Given the description of an element on the screen output the (x, y) to click on. 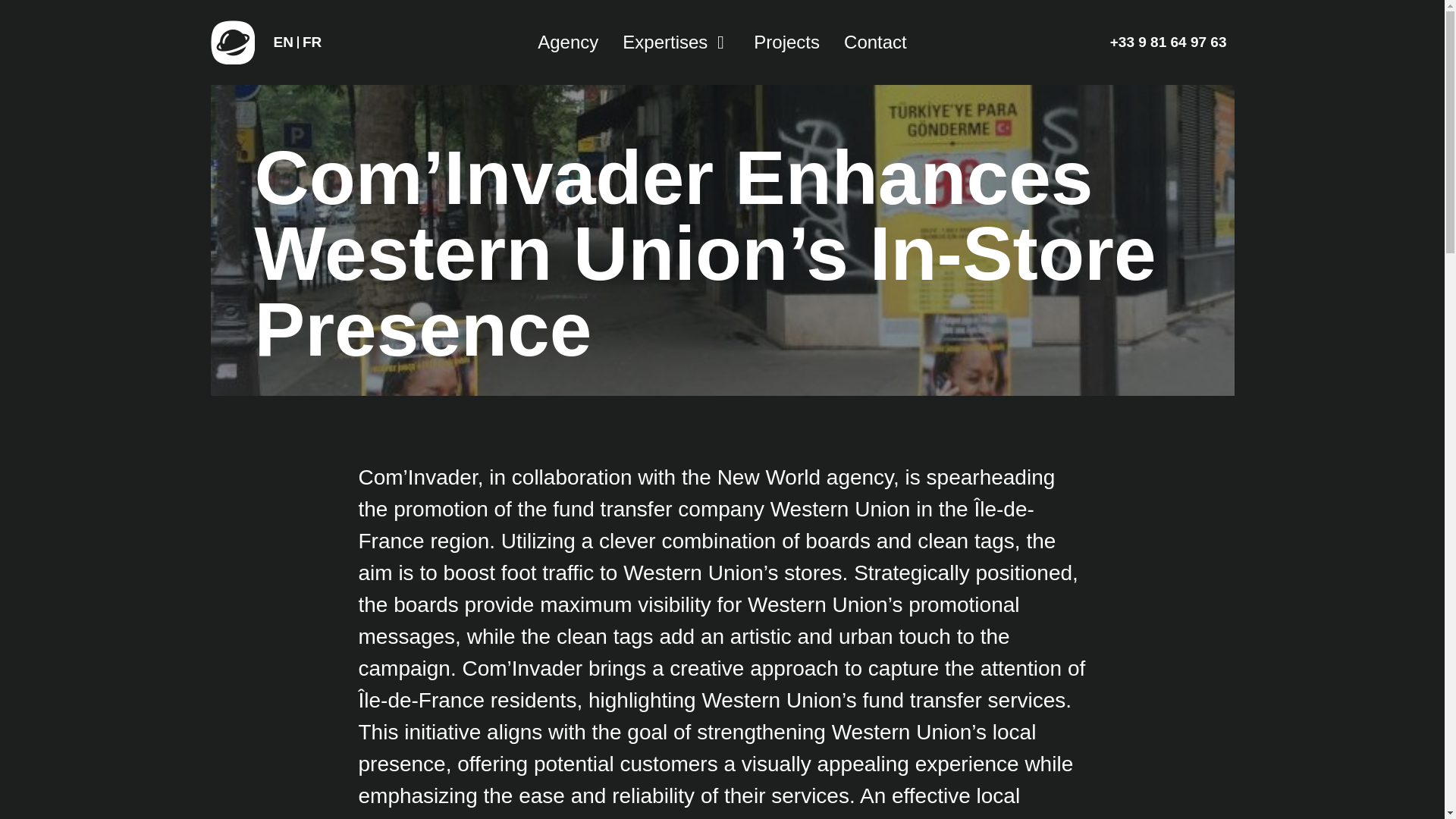
Contact (875, 42)
Agency (567, 42)
Expertises (665, 42)
Projects (786, 42)
